Given the description of an element on the screen output the (x, y) to click on. 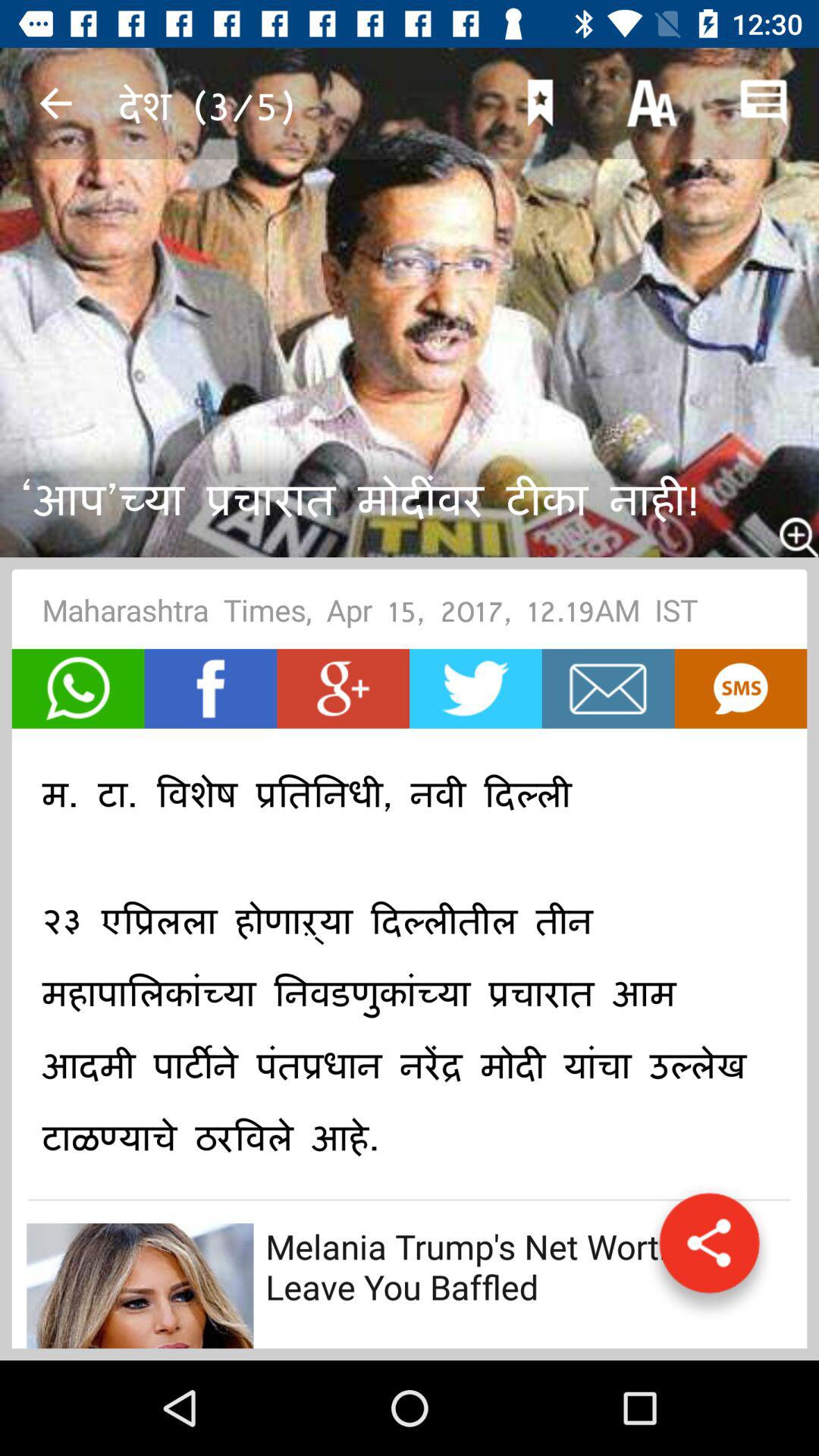
share to twitter (475, 688)
